Given the description of an element on the screen output the (x, y) to click on. 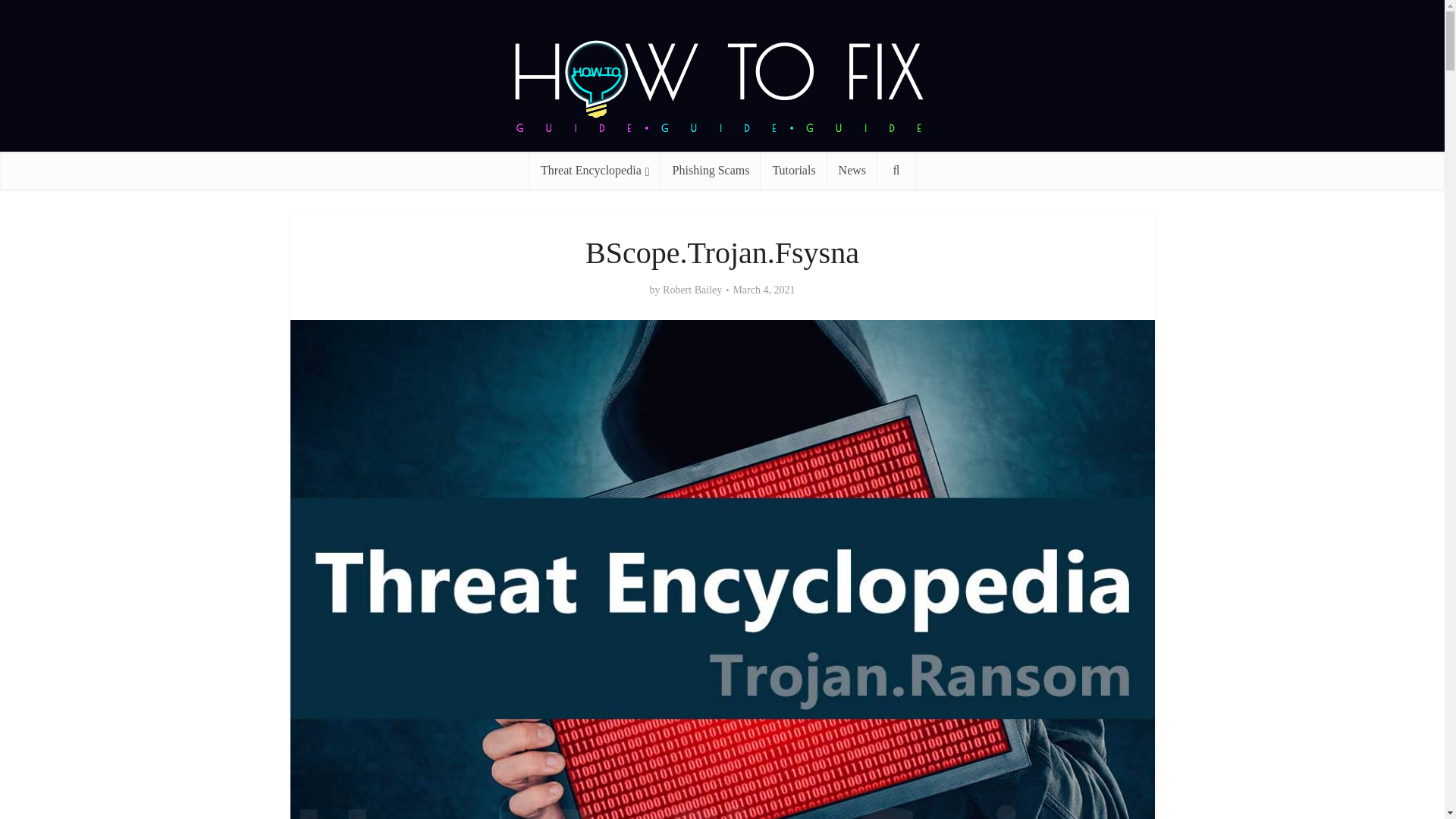
Robert Bailey (692, 290)
Tutorials (793, 170)
Phishing Scams (711, 170)
Threat Encyclopedia (595, 170)
News (852, 170)
